Given the description of an element on the screen output the (x, y) to click on. 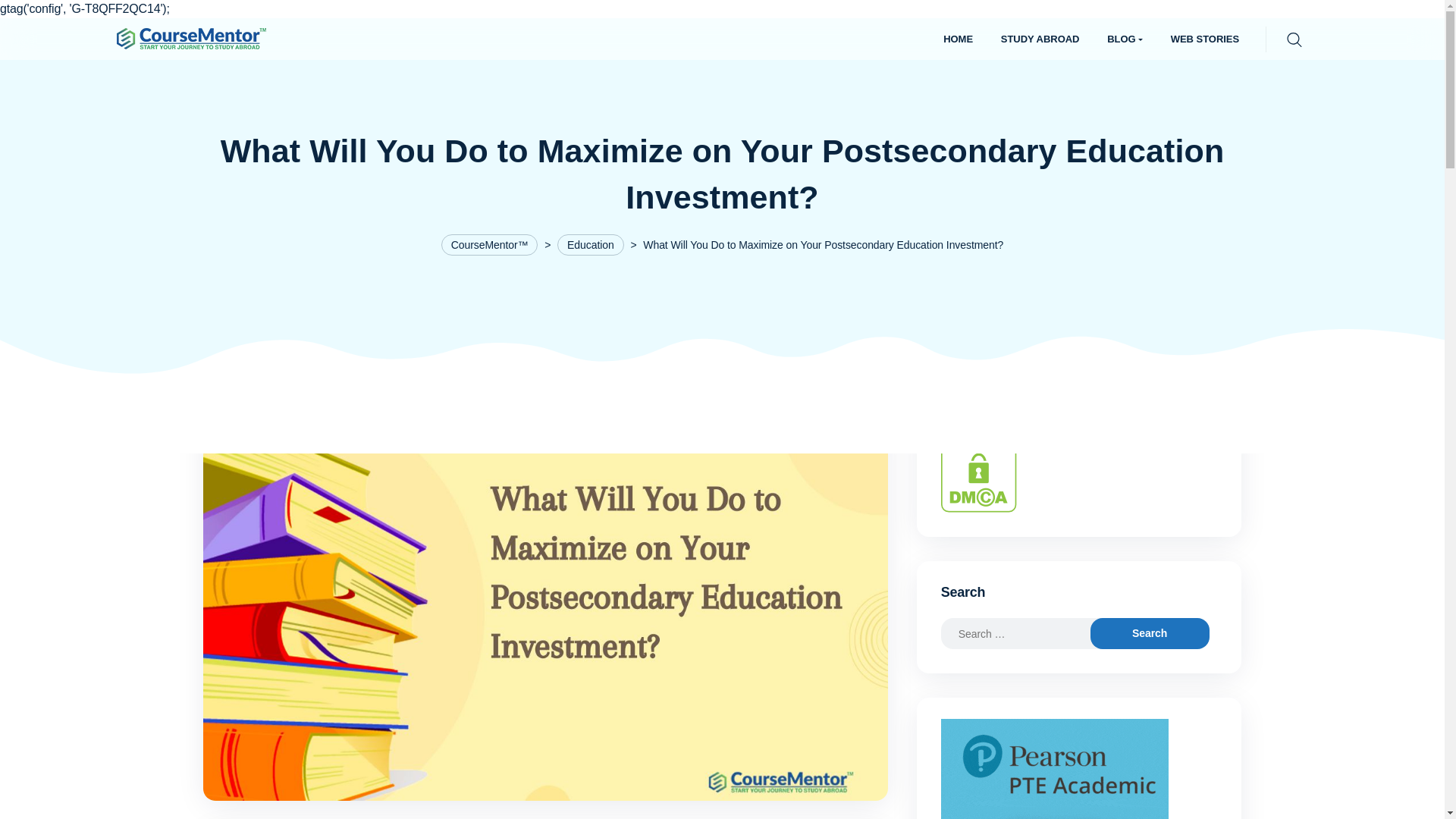
Search (1149, 633)
DMCA.com Protection Status (978, 473)
Search (16, 16)
Go to the Education Category archives. (590, 244)
BLOG (1124, 38)
WEB STORIES (1204, 38)
Search (1149, 633)
Search for: (1029, 633)
Education (590, 244)
HOME (958, 38)
STUDY ABROAD (1040, 38)
Search (1149, 633)
